Given the description of an element on the screen output the (x, y) to click on. 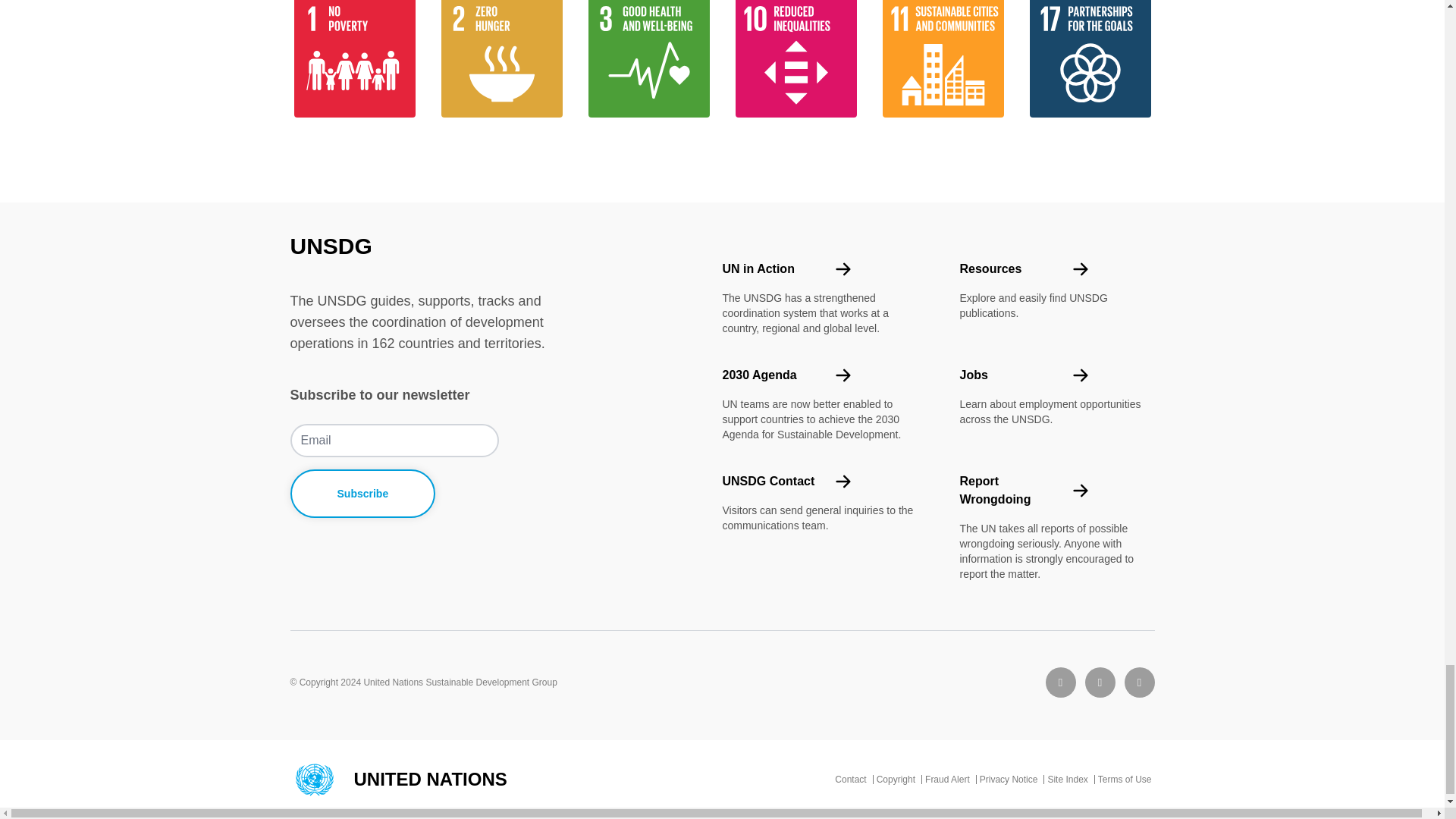
Subscribe (362, 493)
